Given the description of an element on the screen output the (x, y) to click on. 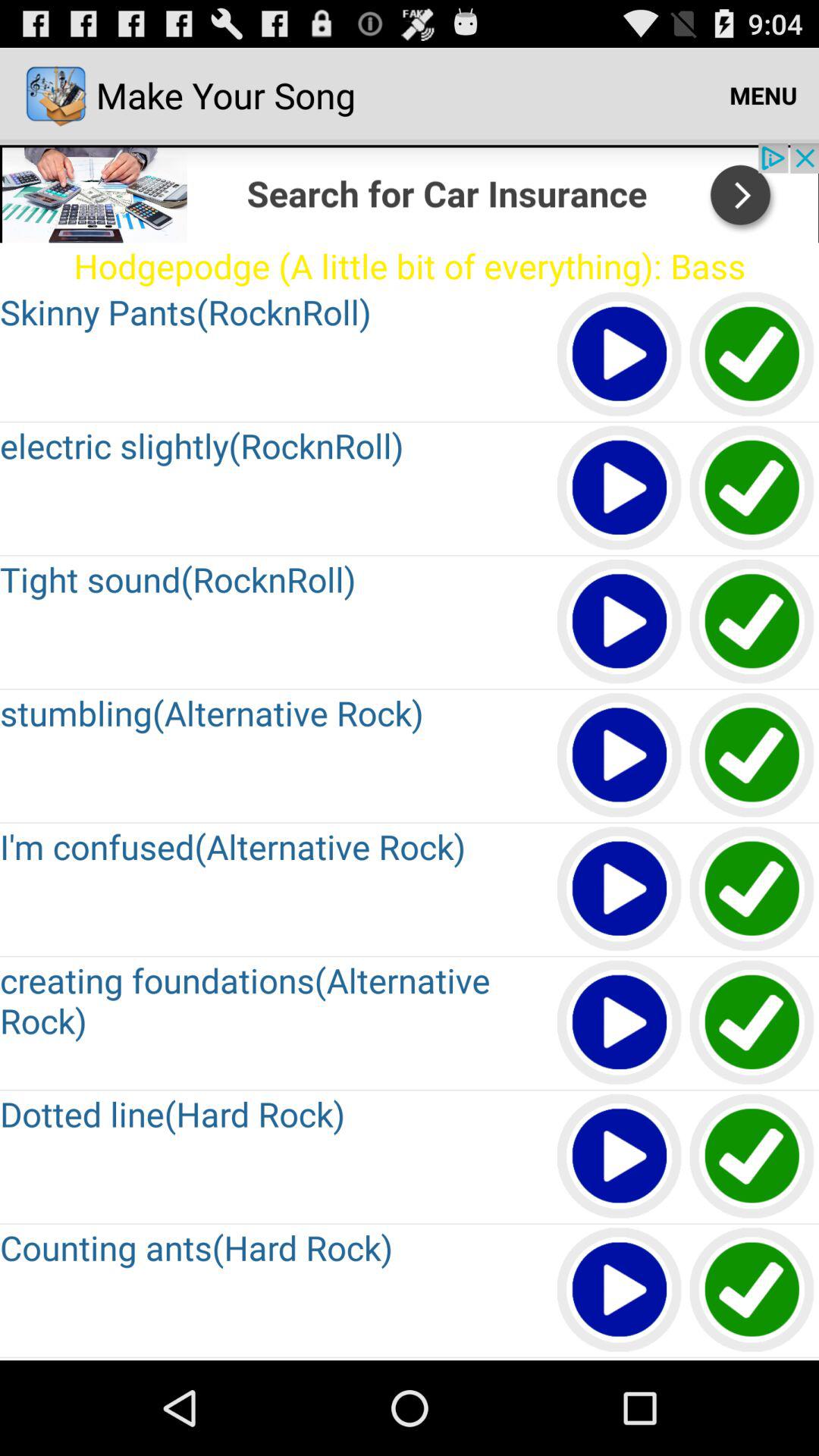
shows the play option (619, 1290)
